Given the description of an element on the screen output the (x, y) to click on. 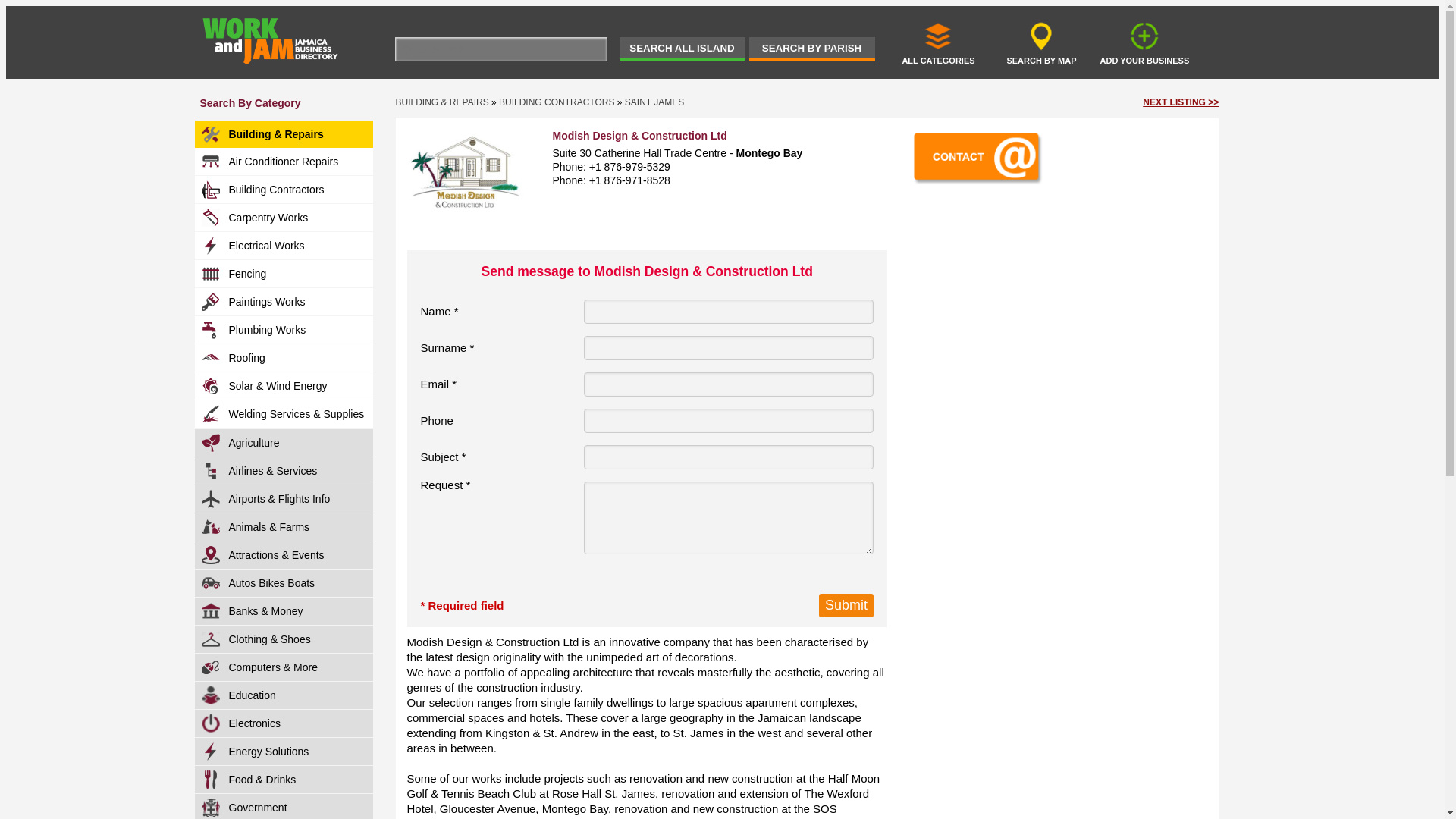
SEARCH BY MAP (1041, 41)
Submit (845, 605)
ALL CATEGORIES (938, 41)
ADD YOUR BUSINESS (1144, 41)
SEARCH ALL ISLAND (681, 48)
SEARCH BY PARISH (812, 48)
